Given the description of an element on the screen output the (x, y) to click on. 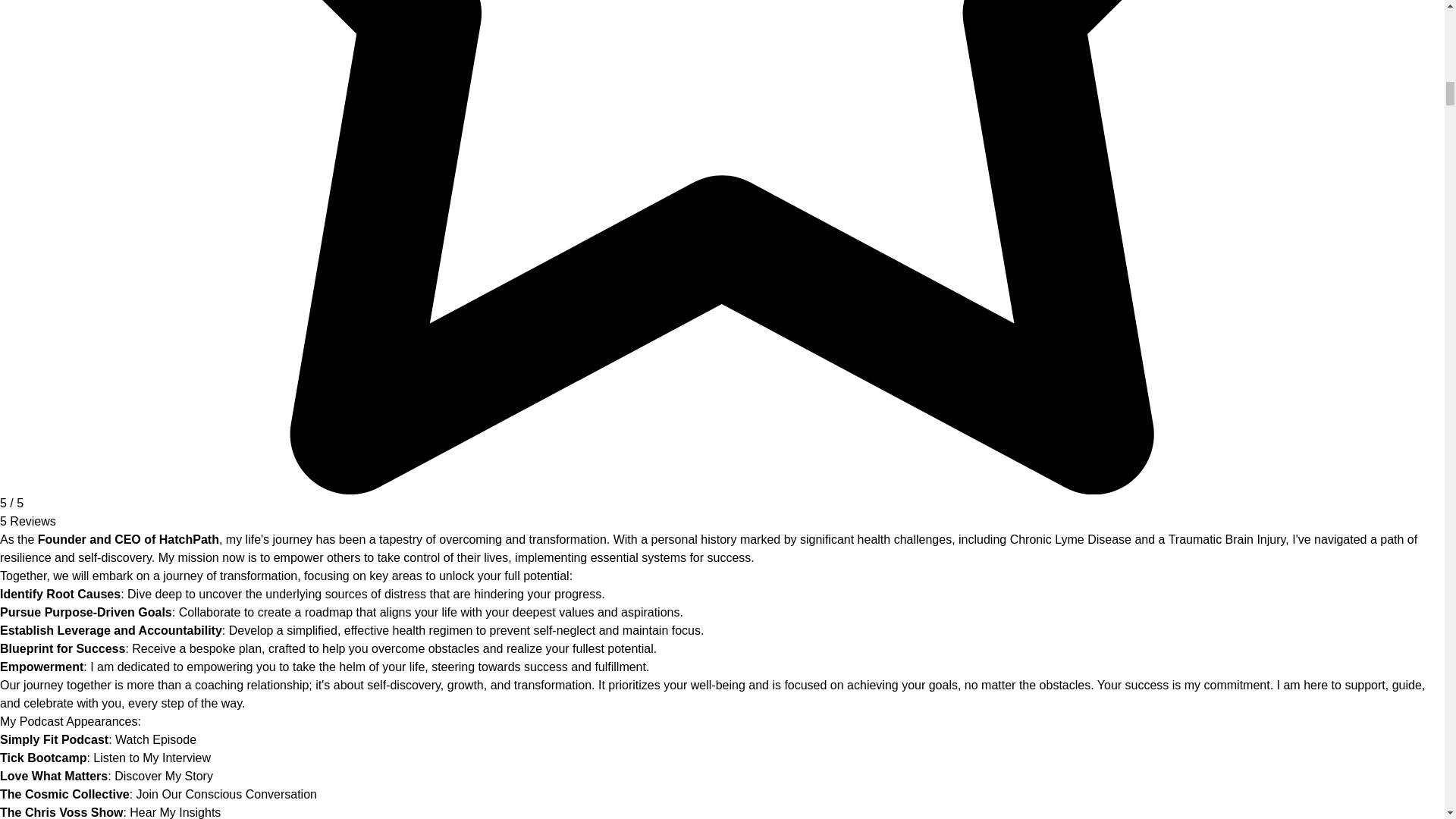
Discover My Story (163, 775)
Join Our Conscious Conversation (226, 793)
Hear My Insights (175, 812)
Listen to My Interview (152, 757)
Watch Episode (155, 739)
